Given the description of an element on the screen output the (x, y) to click on. 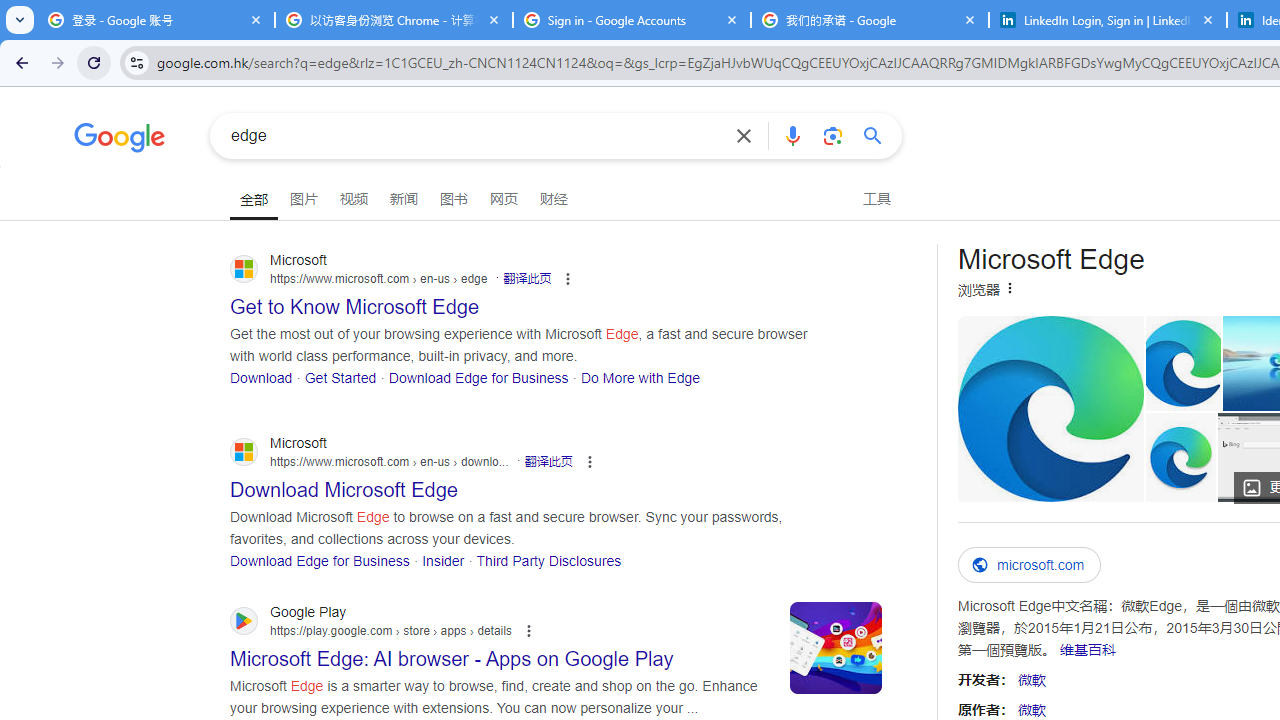
Download (261, 376)
Insider (443, 560)
